Given the description of an element on the screen output the (x, y) to click on. 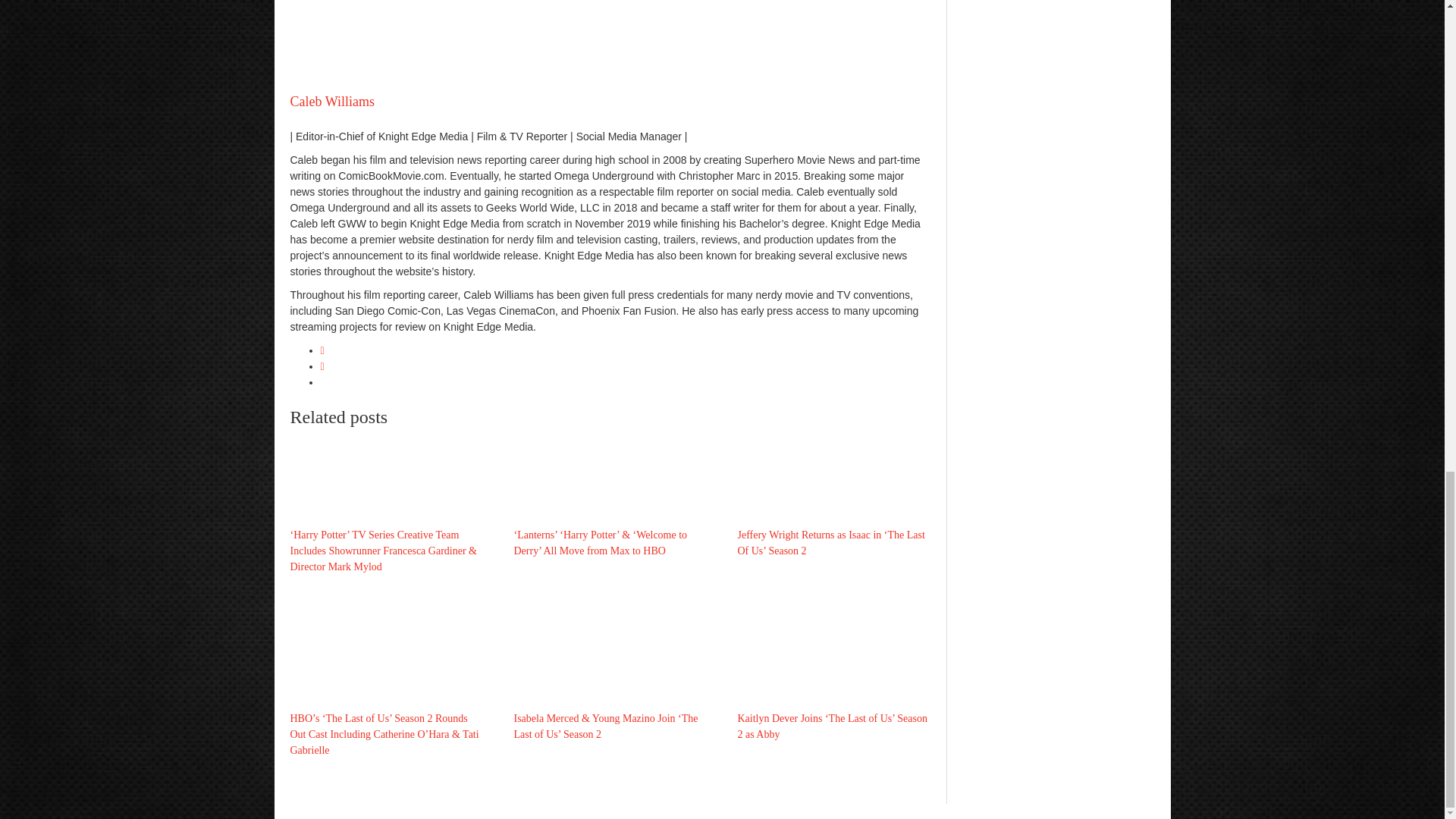
Posts by Caleb Williams (331, 101)
